Given the description of an element on the screen output the (x, y) to click on. 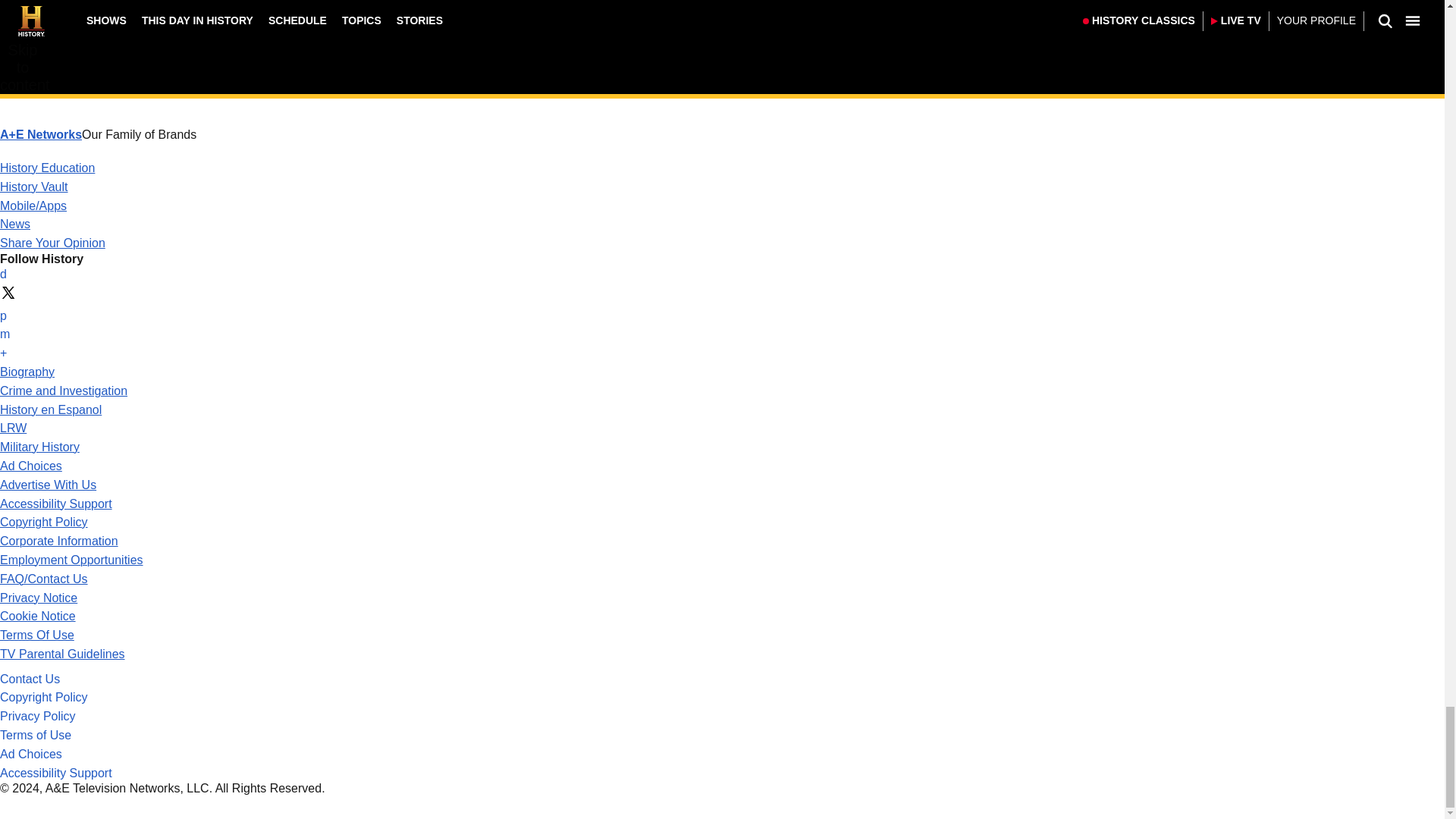
Visit Biography (27, 371)
Visit Privacy Notice (38, 596)
Visit Crime and Investigation (64, 390)
Visit News (15, 223)
Visit Employment Opportunities (71, 559)
Visit Share Your Opinion (52, 242)
Visit Accessibility Support (56, 503)
Visit Corporate Information (58, 540)
Visit Advertise With Us (48, 484)
Visit History en Espanol (50, 409)
Visit History Vault (34, 186)
Visit Copyright Policy (43, 521)
Visit Ad Choices (31, 465)
Visit Military History (40, 446)
Visit History Education (47, 167)
